Given the description of an element on the screen output the (x, y) to click on. 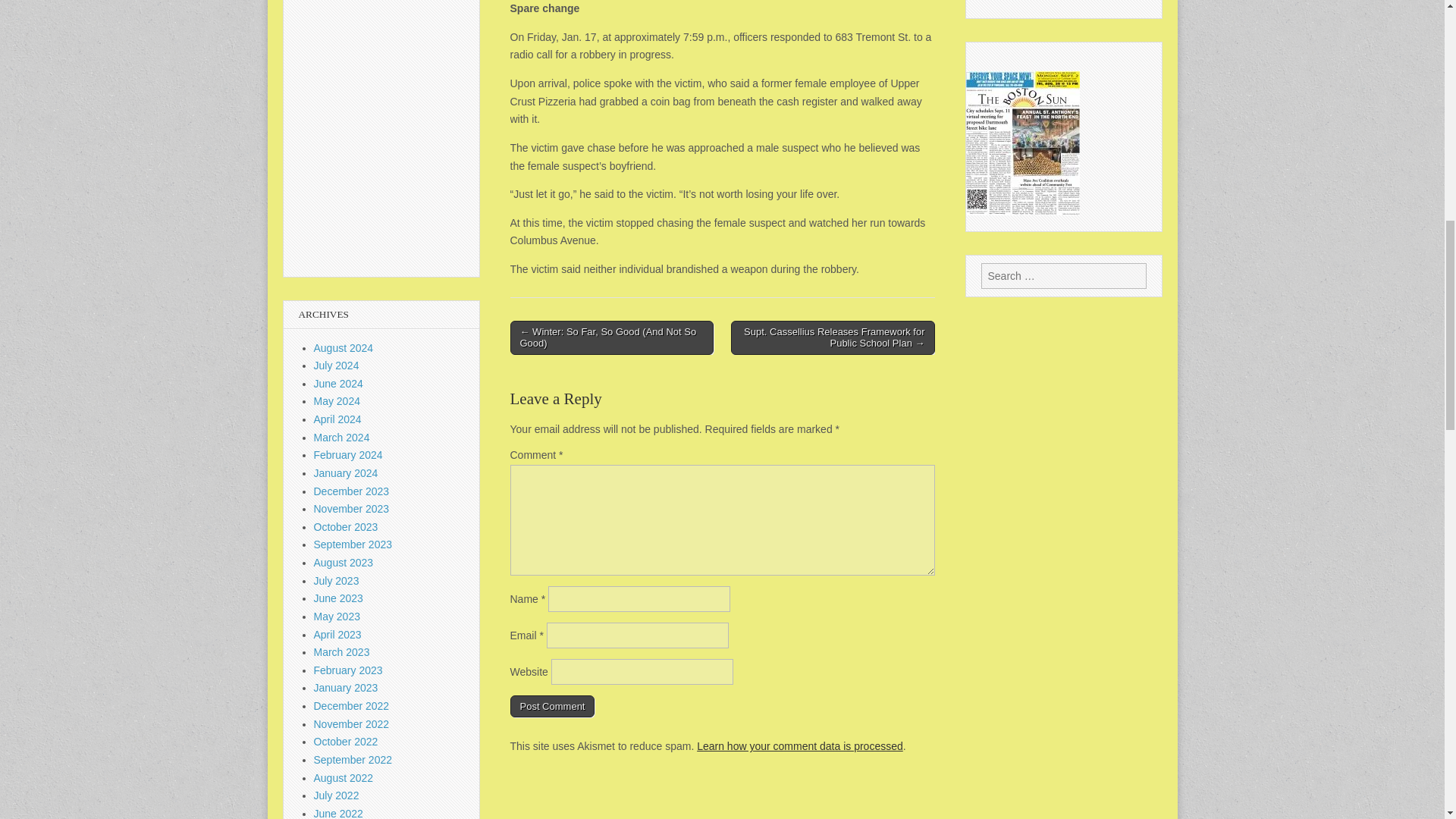
May 2024 (336, 400)
April 2024 (337, 419)
Learn how your comment data is processed (799, 746)
Post Comment (551, 706)
Post Comment (551, 706)
February 2024 (348, 454)
March 2024 (341, 437)
June 2024 (338, 383)
January 2024 (346, 472)
July 2024 (336, 365)
